Given the description of an element on the screen output the (x, y) to click on. 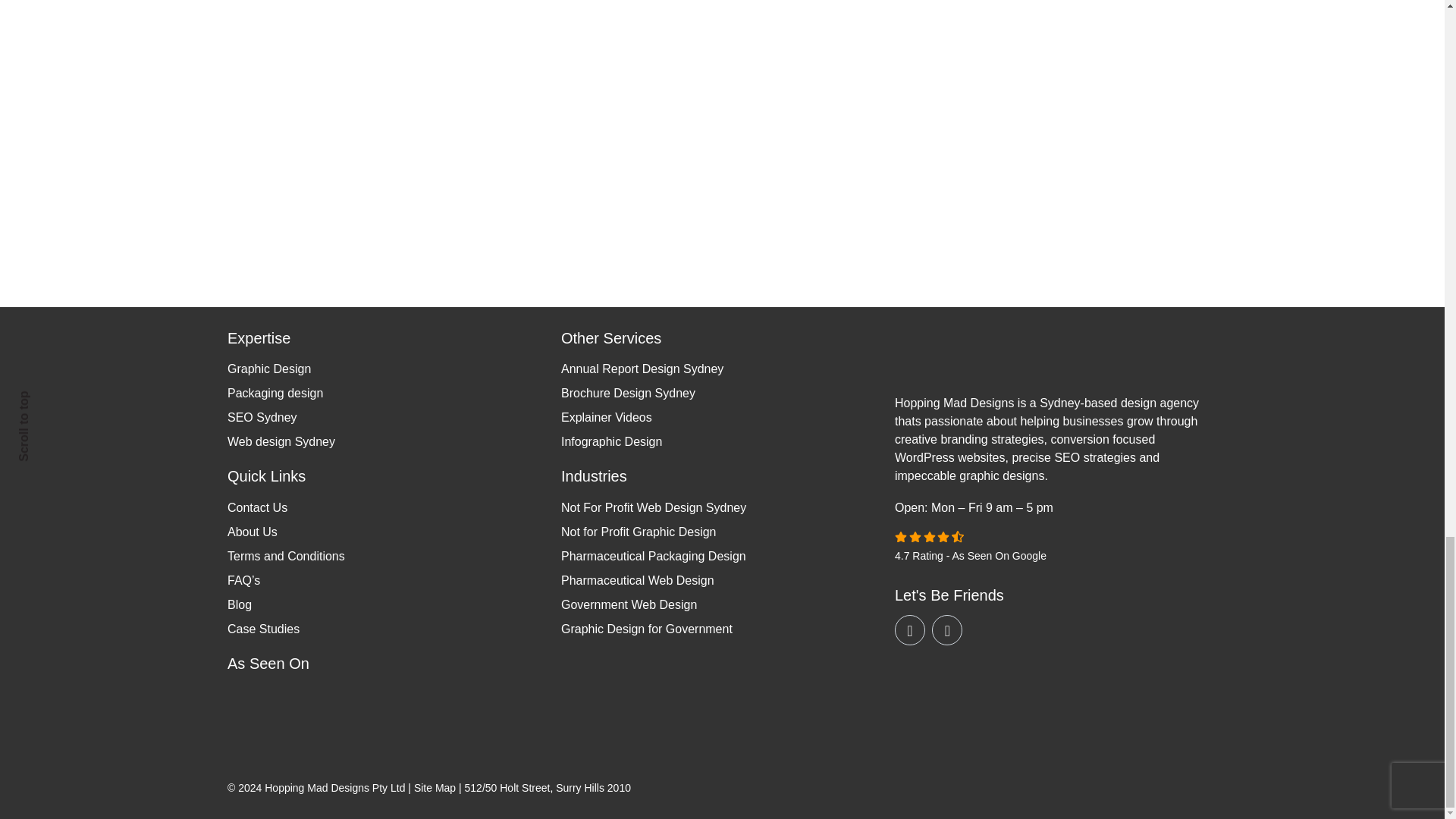
Contact Us (256, 507)
facebook (946, 629)
Graphic Design (269, 368)
SEO Sydney (262, 417)
youtube (909, 629)
Packaging design (275, 392)
Web design Sydney (280, 440)
